Given the description of an element on the screen output the (x, y) to click on. 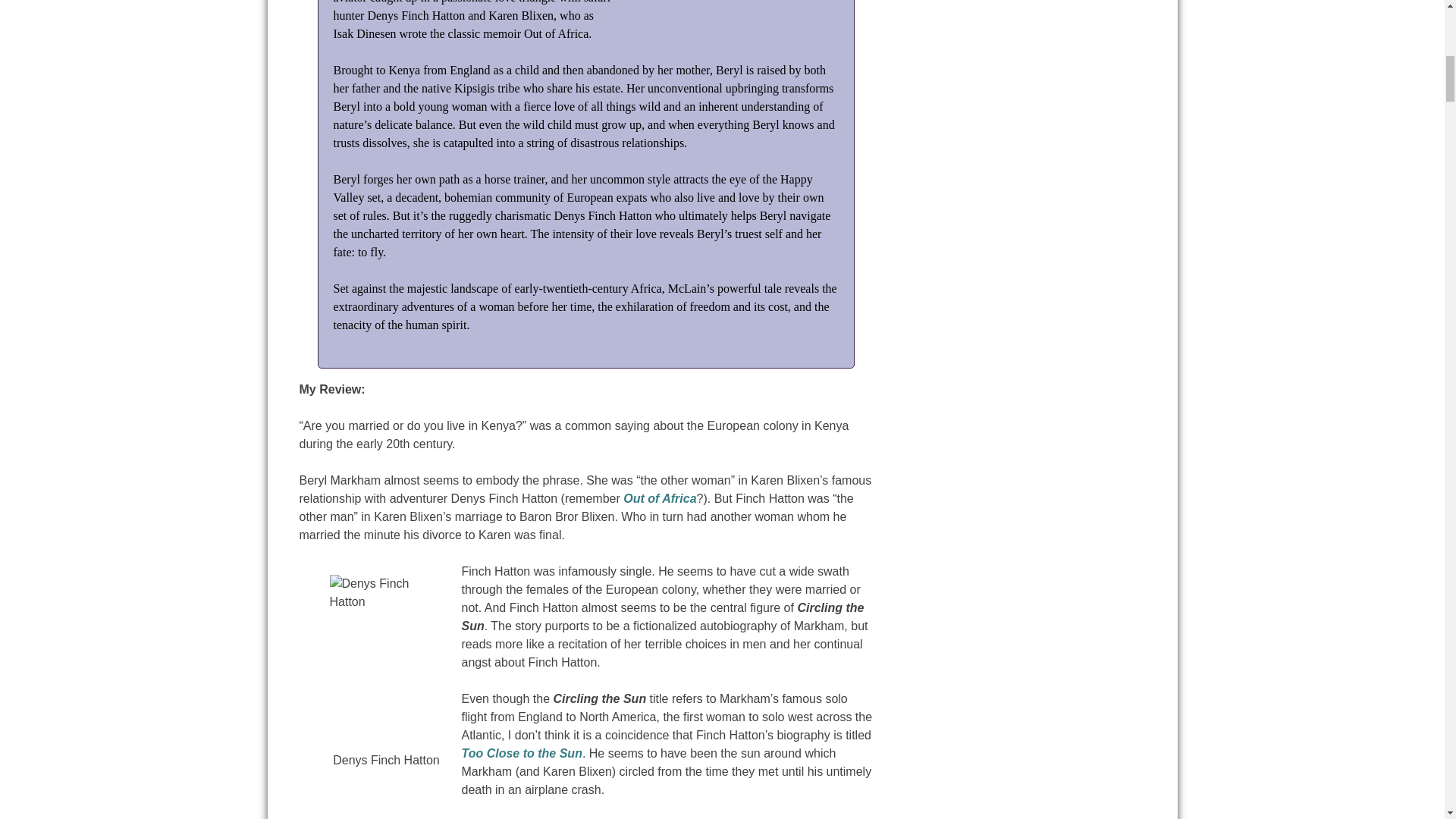
Too Close to the Sun (520, 753)
Out of Africa (659, 498)
